Given the description of an element on the screen output the (x, y) to click on. 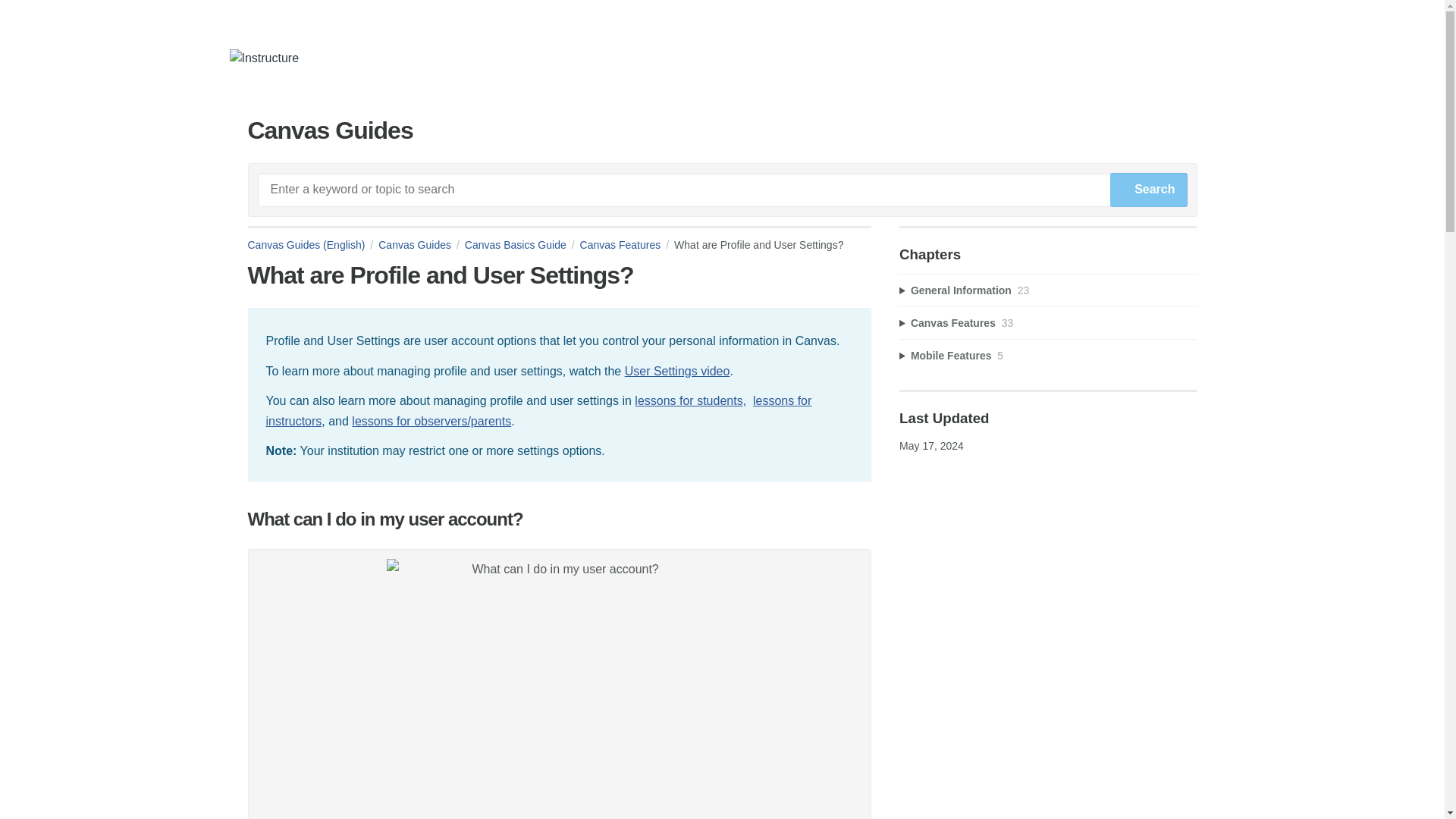
Search (1147, 189)
Canvas Basics Guide (521, 244)
Search (1147, 189)
User Settings video (677, 370)
lessons for students (688, 400)
Search (1147, 189)
Canvas Guides (421, 244)
lessons for instructors (537, 410)
Canvas Features (627, 244)
